Given the description of an element on the screen output the (x, y) to click on. 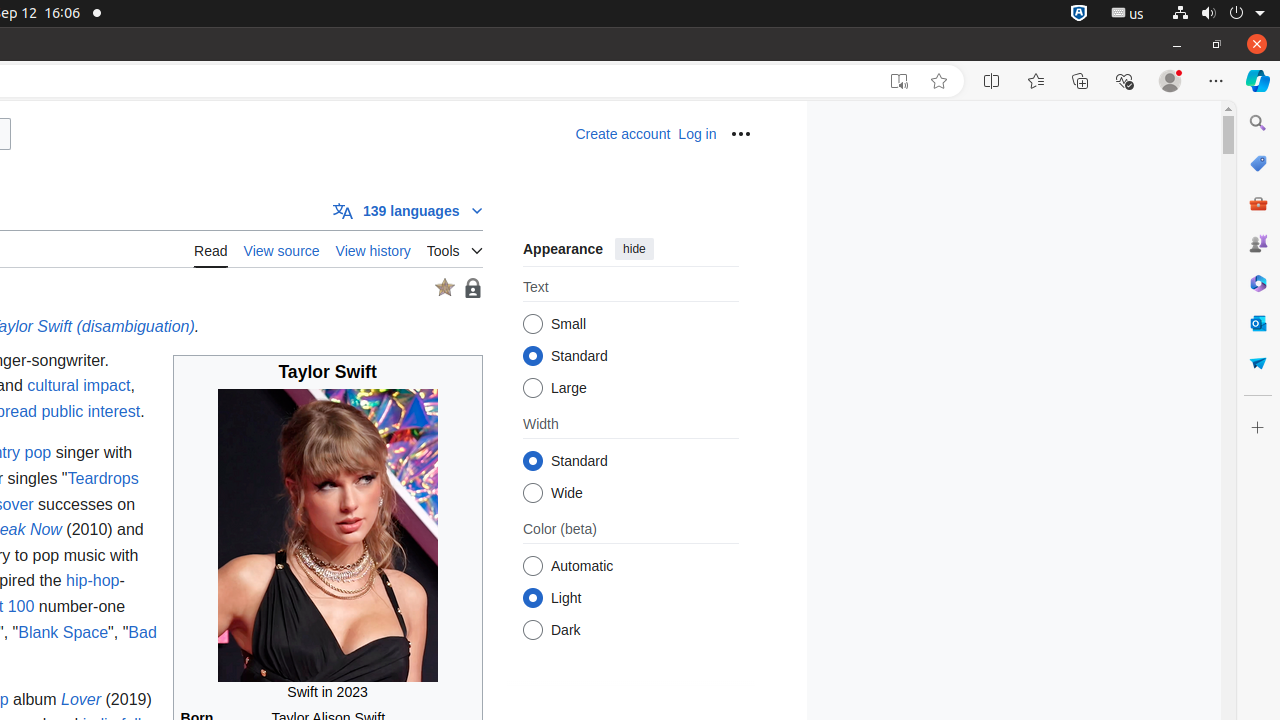
Games Element type: push-button (1258, 243)
View history Element type: link (373, 248)
Customize Element type: push-button (1258, 428)
Swift glancing towards her left Swift in 2023 Element type: table-cell (327, 545)
:1.21/StatusNotifierItem Element type: menu (1127, 13)
